Given the description of an element on the screen output the (x, y) to click on. 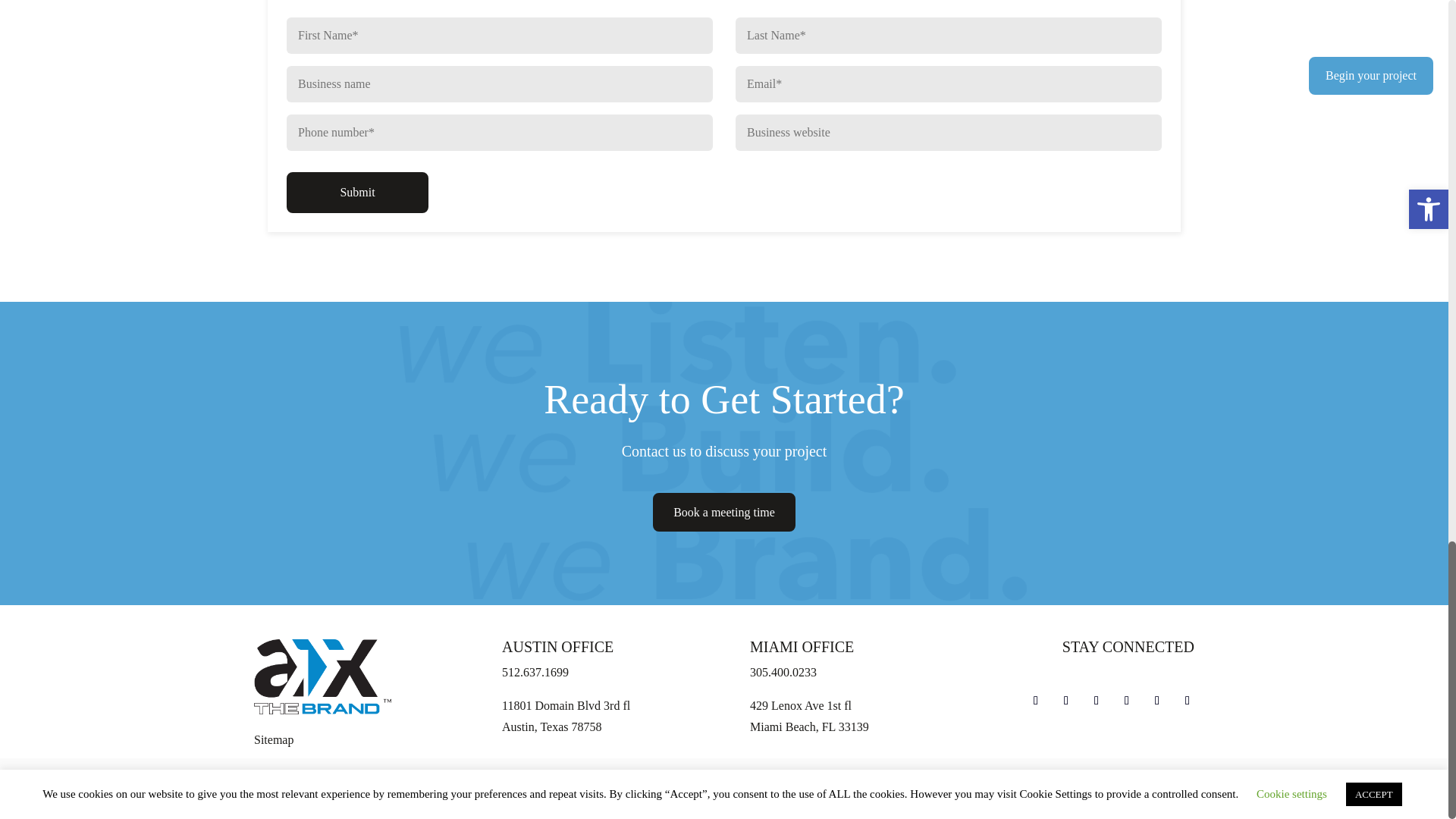
Follow on Instagram (1066, 700)
Follow on Twitter (1096, 700)
Follow on Facebook (1035, 700)
Follow on Youtube (1126, 700)
Follow on LinkedIn (1186, 700)
Submit (357, 191)
